Given the description of an element on the screen output the (x, y) to click on. 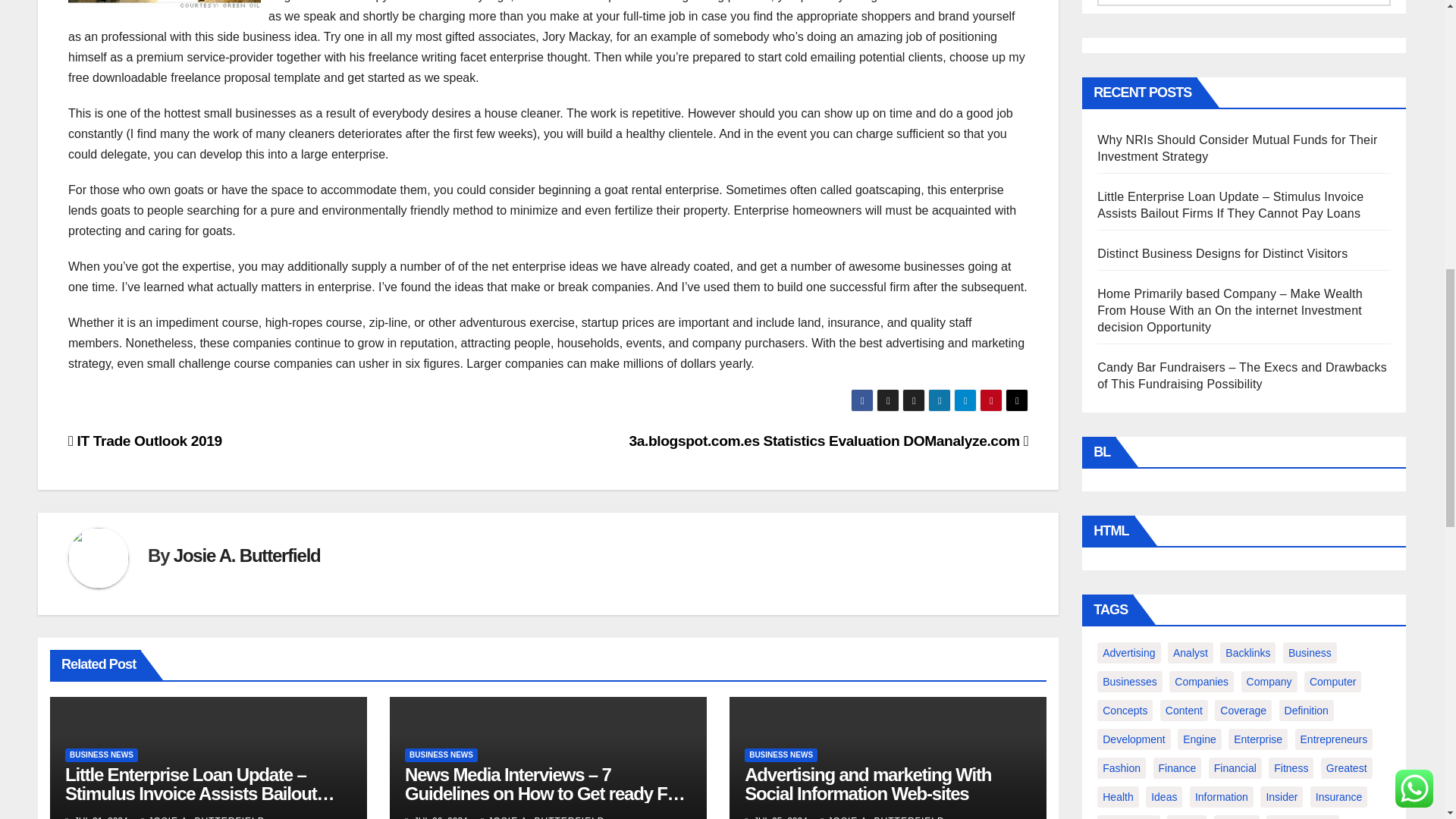
IT Trade Outlook 2019 (145, 440)
BUSINESS NEWS (101, 755)
3a.blogspot.com.es Statistics Evaluation DOManalyze.com (827, 440)
Josie A. Butterfield (246, 555)
